Given the description of an element on the screen output the (x, y) to click on. 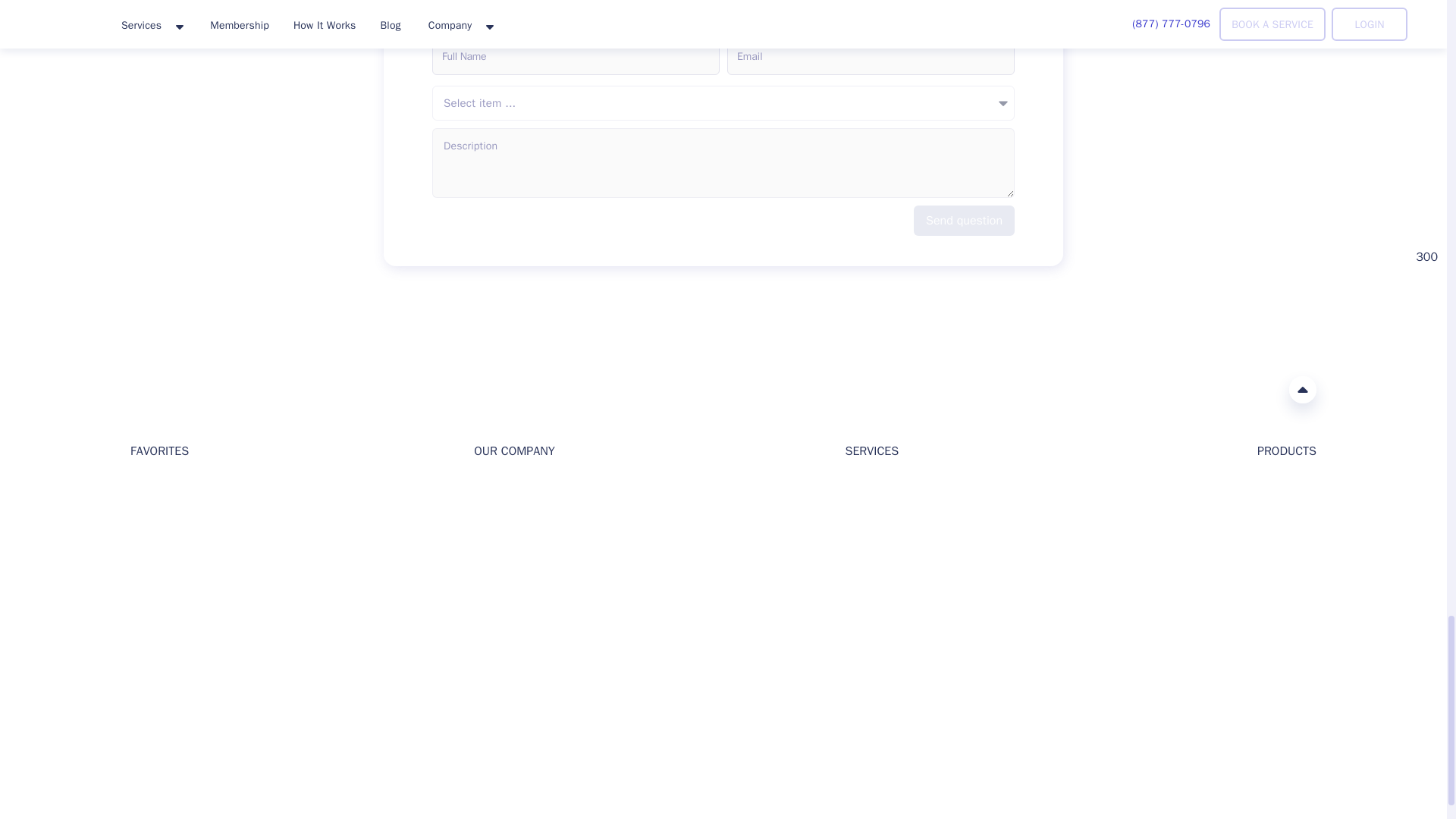
Membership (160, 584)
Select item ... (723, 102)
About Us (496, 487)
Send question (964, 220)
Home Alliance Support (139, 714)
HomeAlliance (146, 388)
Welcome (152, 487)
Blog (141, 512)
Investors (496, 512)
Locations (154, 560)
